Given the description of an element on the screen output the (x, y) to click on. 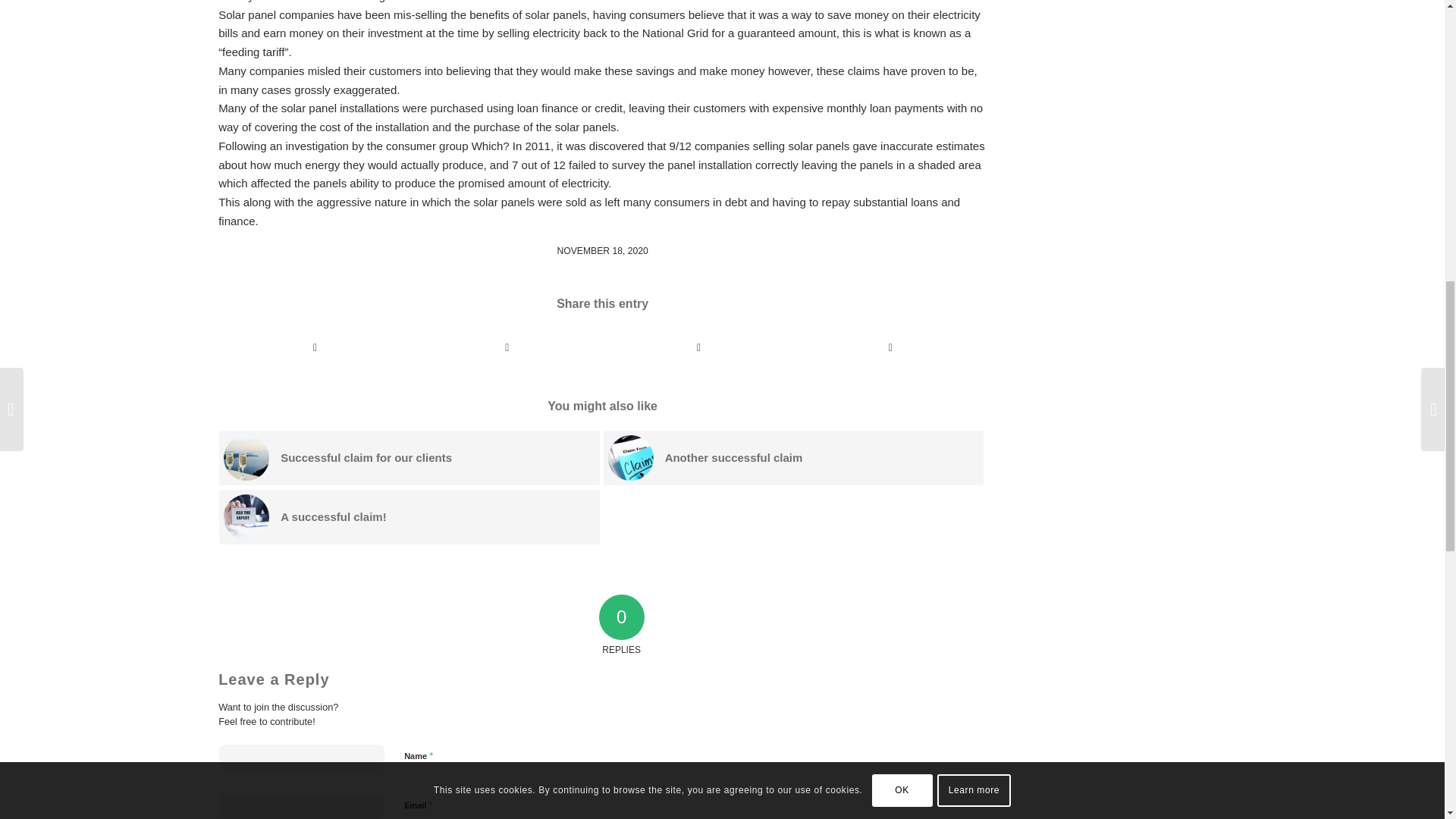
Another successful claim (793, 457)
Stack of Claims applications on a desk. (630, 457)
anthony-delanoix-vmrCxMRdq58-unsplash (246, 457)
A successful claim! (408, 516)
Successful claim for our clients (408, 457)
Successful claim for our clients (408, 457)
Another successful claim (793, 457)
